Given the description of an element on the screen output the (x, y) to click on. 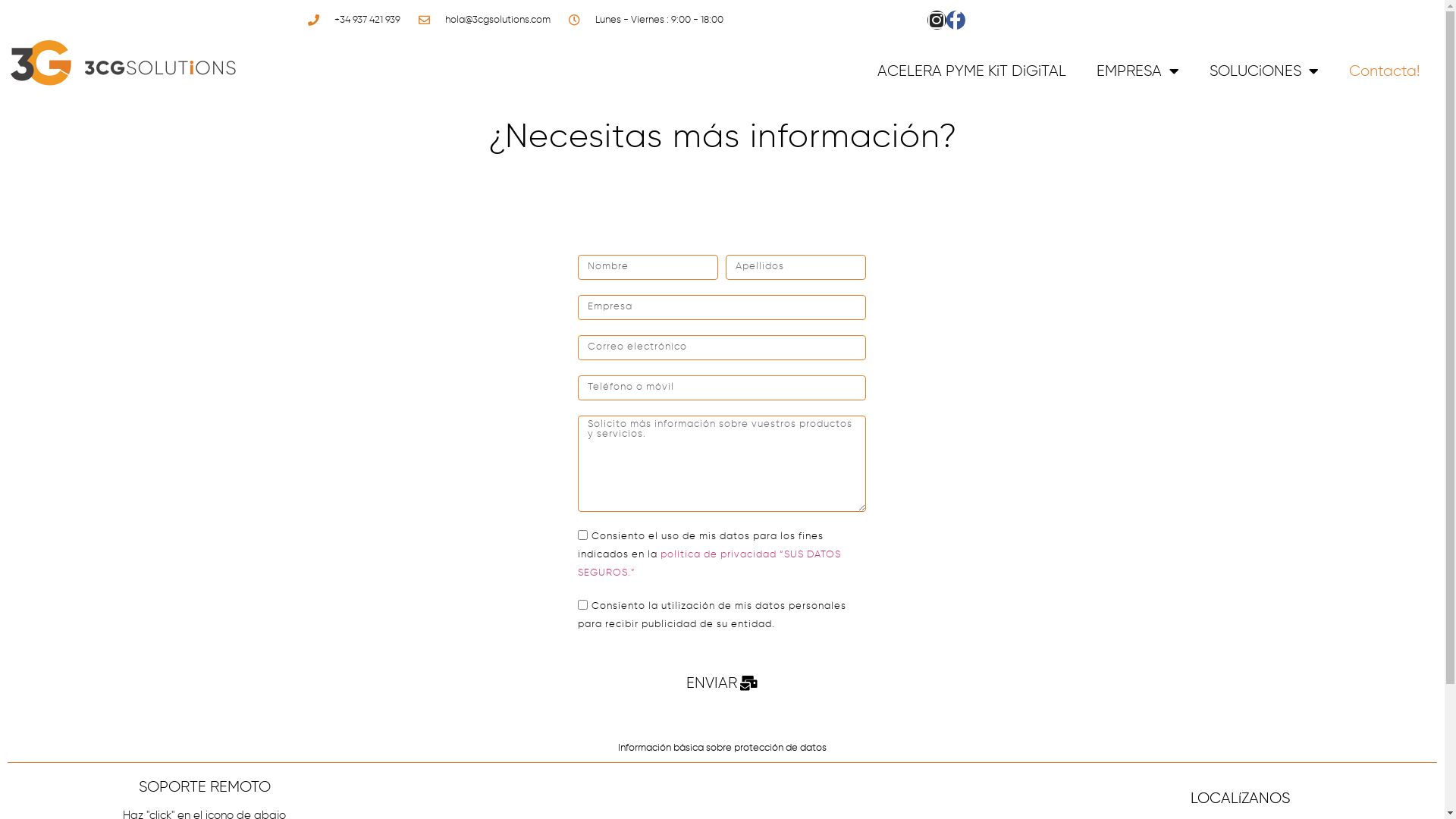
+34 937 421 939 Element type: text (352, 20)
Contacta! Element type: text (1383, 70)
ACELERA PYME KiT DiGiTAL Element type: text (971, 70)
EMPRESA Element type: text (1137, 70)
hola@3cgsolutions.com Element type: text (482, 20)
ENVIAR Element type: text (721, 683)
SOLUCiONES Element type: text (1263, 70)
